Given the description of an element on the screen output the (x, y) to click on. 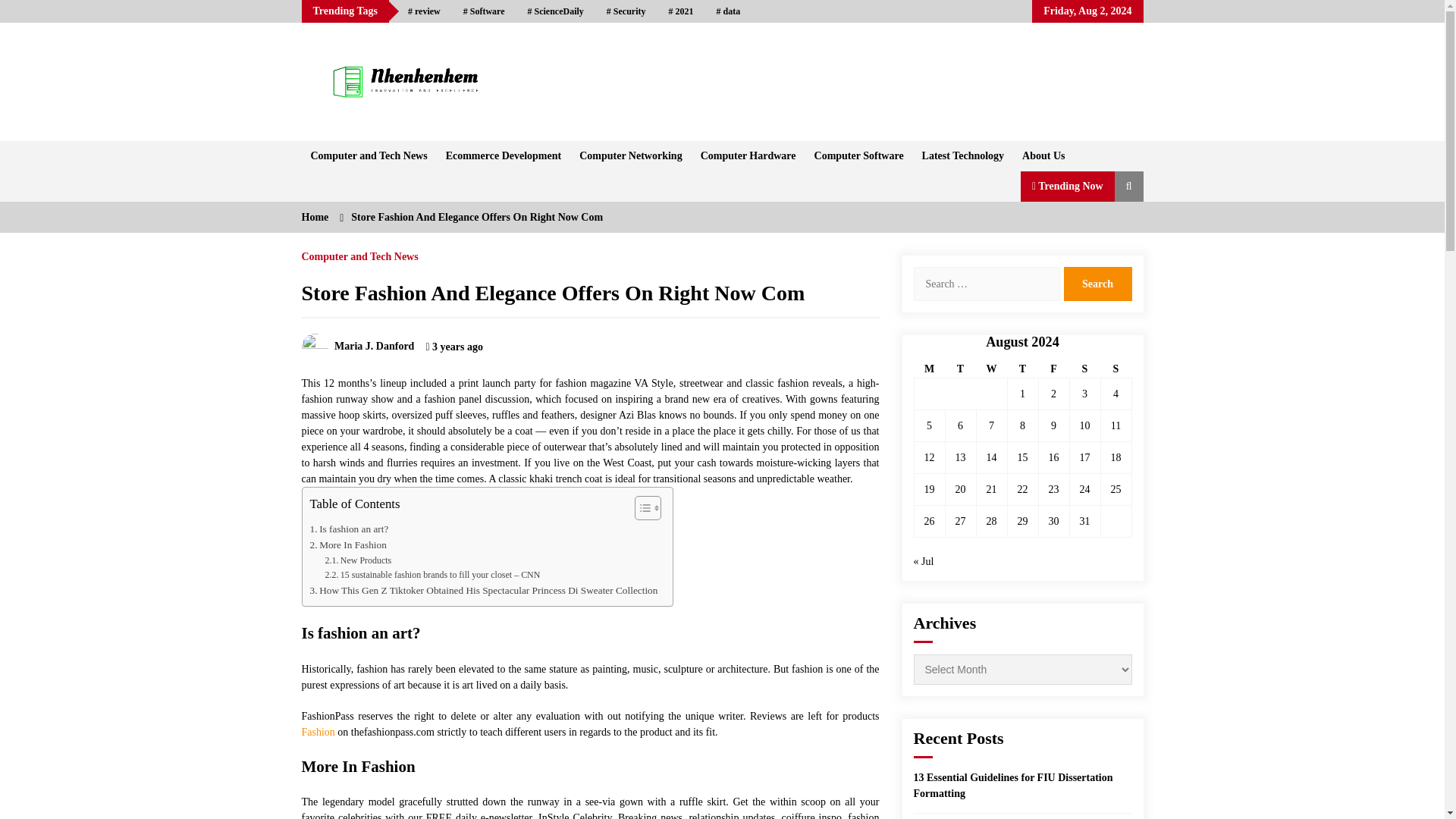
Ecommerce Development (503, 155)
review (423, 11)
More In Fashion (346, 544)
Computer Software (858, 155)
Computer Hardware (748, 155)
ScienceDaily (555, 11)
Wednesday (991, 369)
Monday (929, 369)
Search (1096, 283)
Is fashion an art? (348, 528)
Security (626, 11)
Computer Networking (630, 155)
data (728, 11)
About Us (1043, 155)
